Given the description of an element on the screen output the (x, y) to click on. 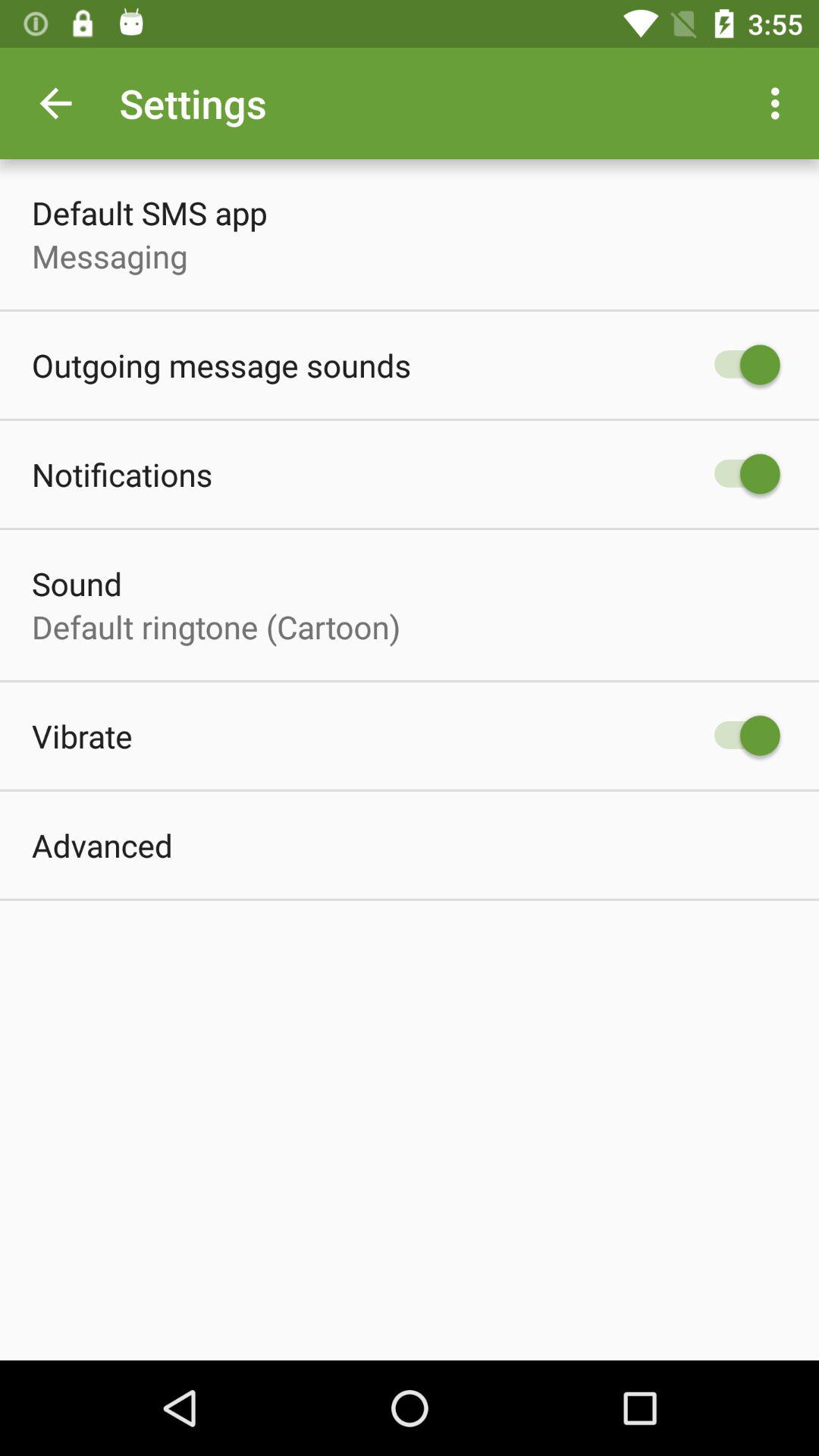
select the outgoing message sounds (221, 364)
